Given the description of an element on the screen output the (x, y) to click on. 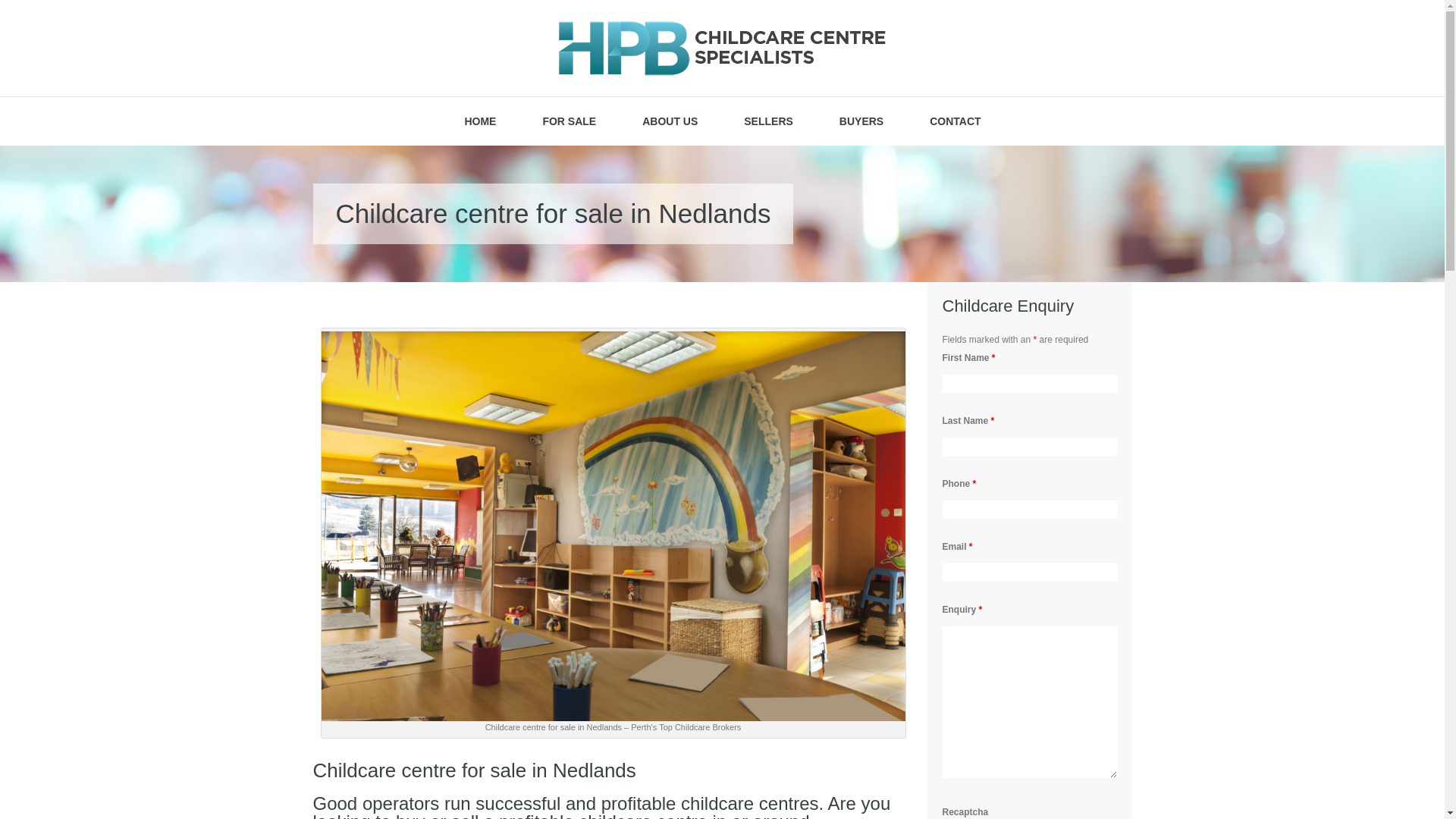
ABOUT US Element type: text (669, 121)
HPB Childcare Specialists Element type: hover (722, 48)
FOR SALE Element type: text (568, 121)
HOME Element type: text (479, 121)
CONTACT Element type: text (954, 121)
SELLERS Element type: text (768, 121)
BUYERS Element type: text (861, 121)
